Given the description of an element on the screen output the (x, y) to click on. 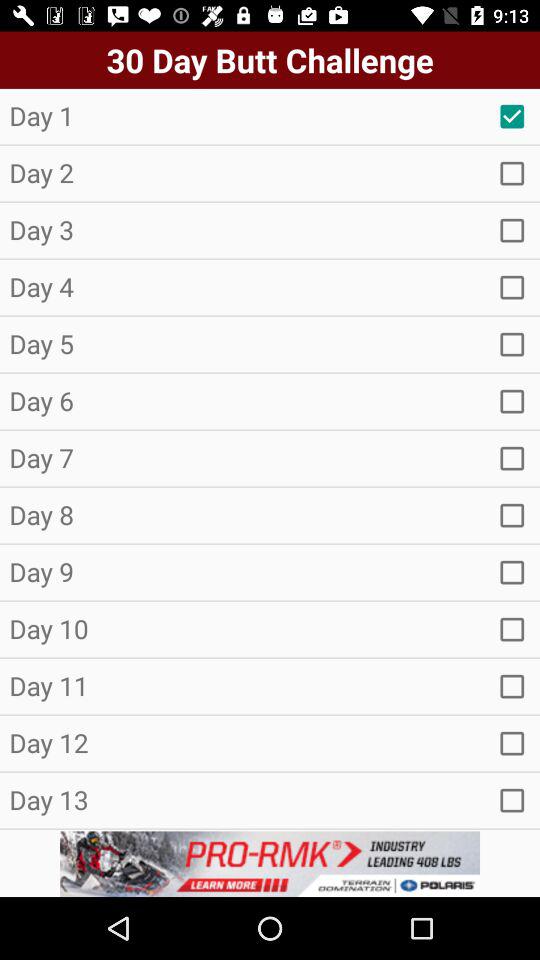
choose the option (512, 629)
